Given the description of an element on the screen output the (x, y) to click on. 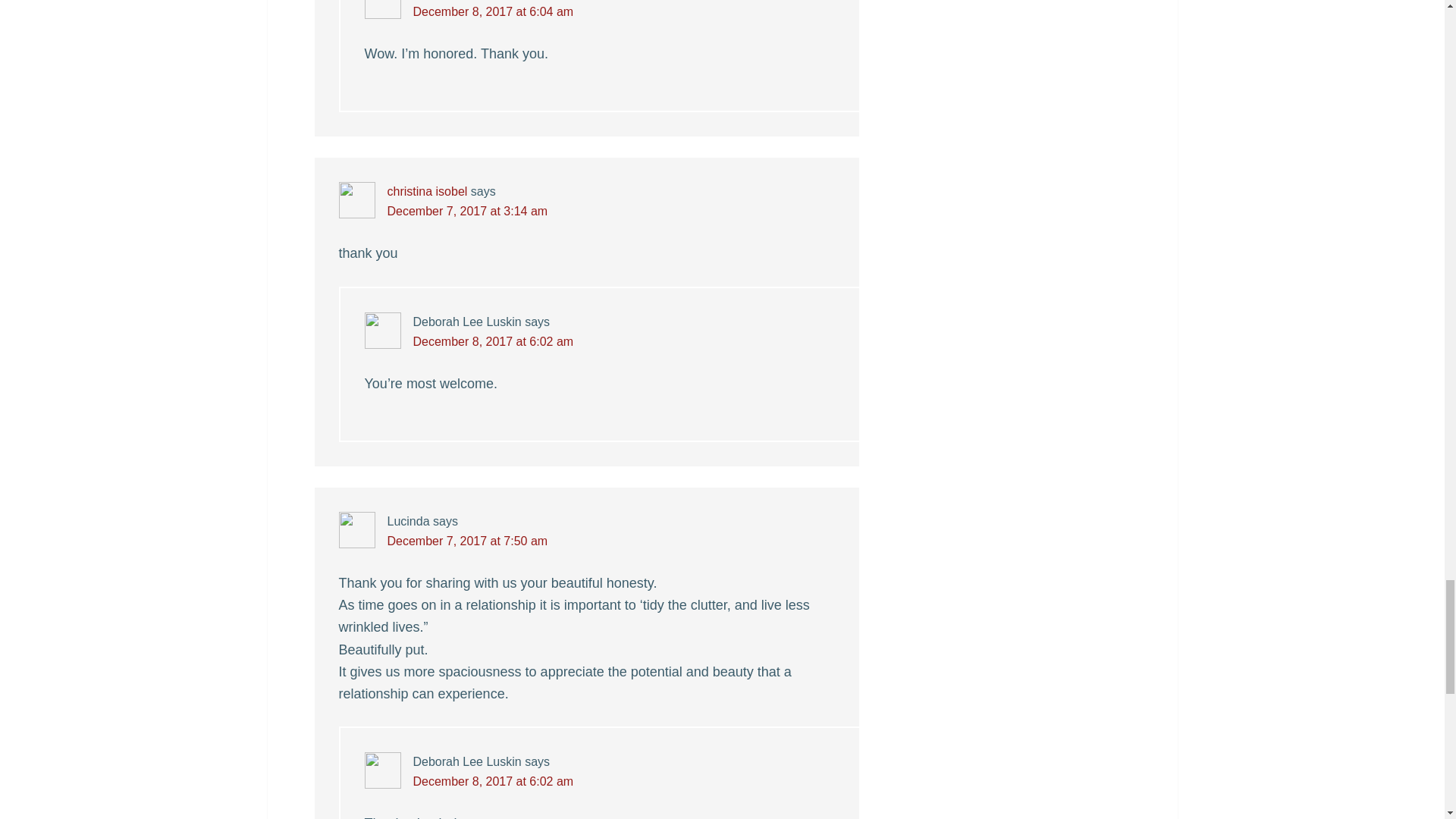
christina isobel (427, 191)
December 8, 2017 at 6:04 am (492, 11)
December 8, 2017 at 6:02 am (492, 341)
December 7, 2017 at 3:14 am (467, 210)
